Given the description of an element on the screen output the (x, y) to click on. 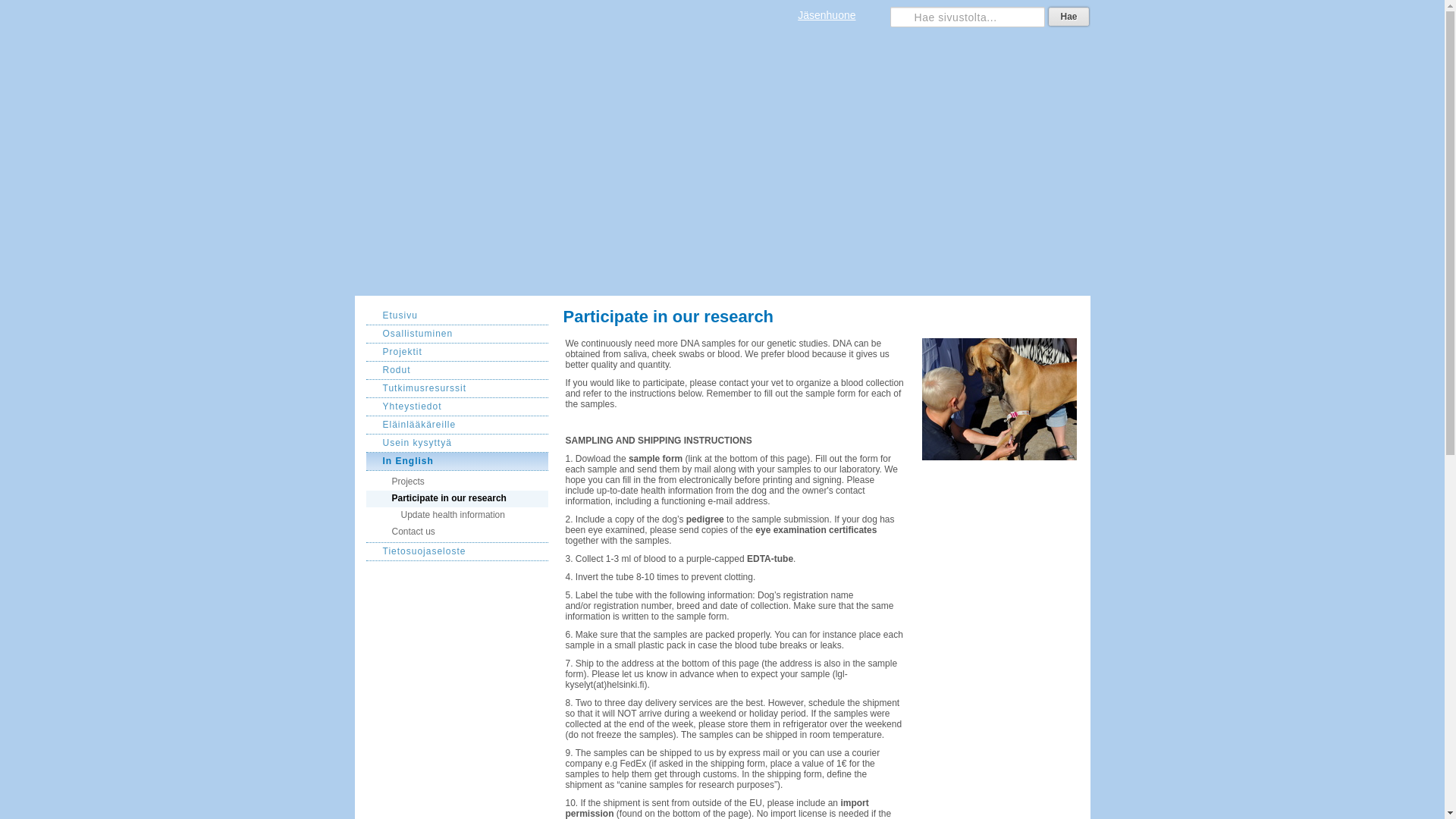
Tutkimusresurssit (456, 389)
Hae (1067, 16)
Etusivu (456, 316)
Update health information (456, 515)
Hae sivustolta... (967, 16)
Yhteystiedot (456, 407)
Contact us (456, 533)
Projektit (456, 352)
Rodut (456, 370)
Participate in our research (456, 498)
Hae sivustolta... (967, 16)
Projects (456, 480)
Hae (1067, 16)
Tietosuojaseloste (456, 551)
In English (456, 461)
